Given the description of an element on the screen output the (x, y) to click on. 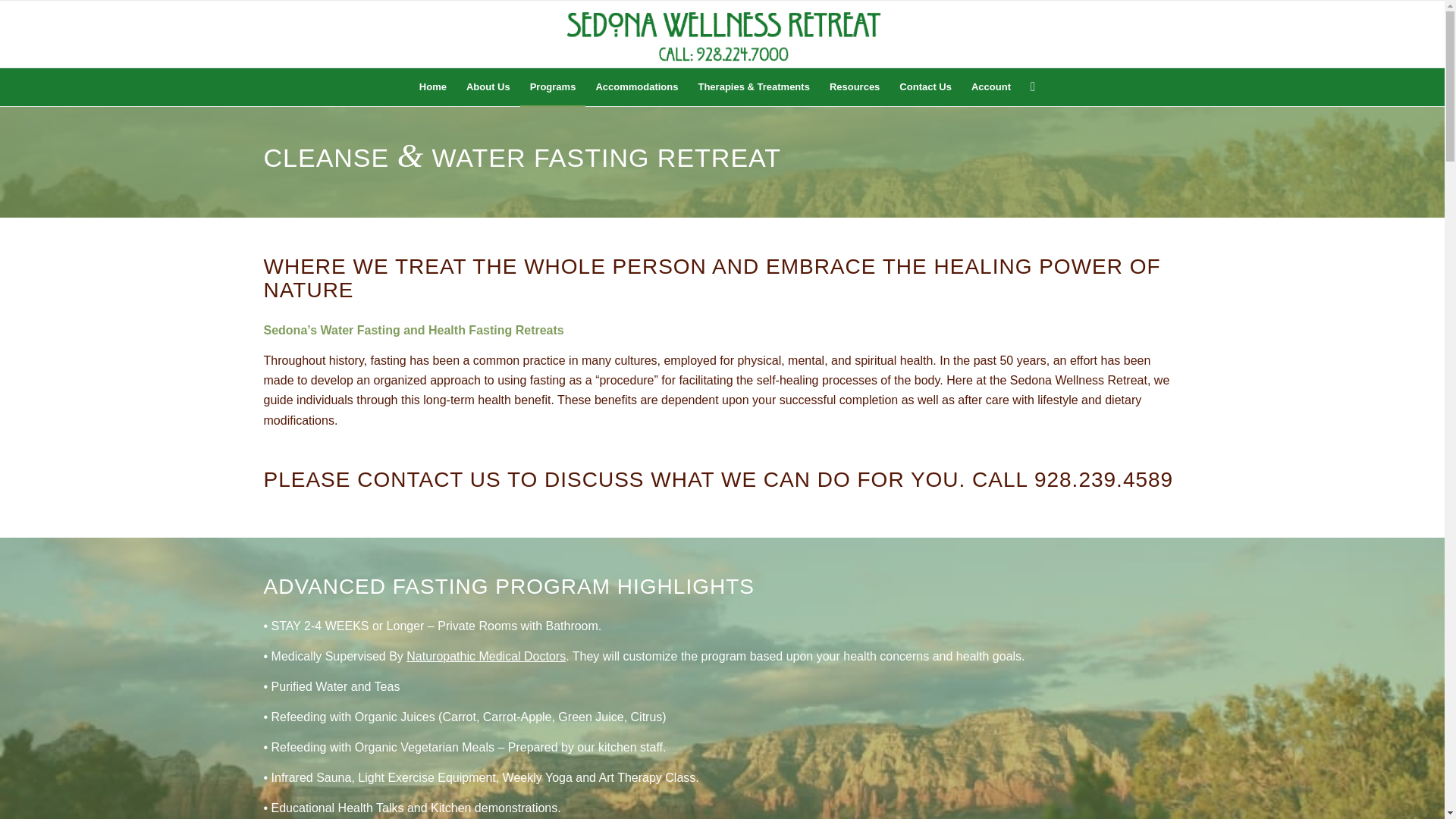
Resources (854, 86)
About Us (488, 86)
Contact Us (924, 86)
Logo-Header-7000 (721, 33)
Programs (552, 86)
Naturopathic Medical Doctors (486, 656)
Accommodations (636, 86)
Home (433, 86)
Account (990, 86)
